Given the description of an element on the screen output the (x, y) to click on. 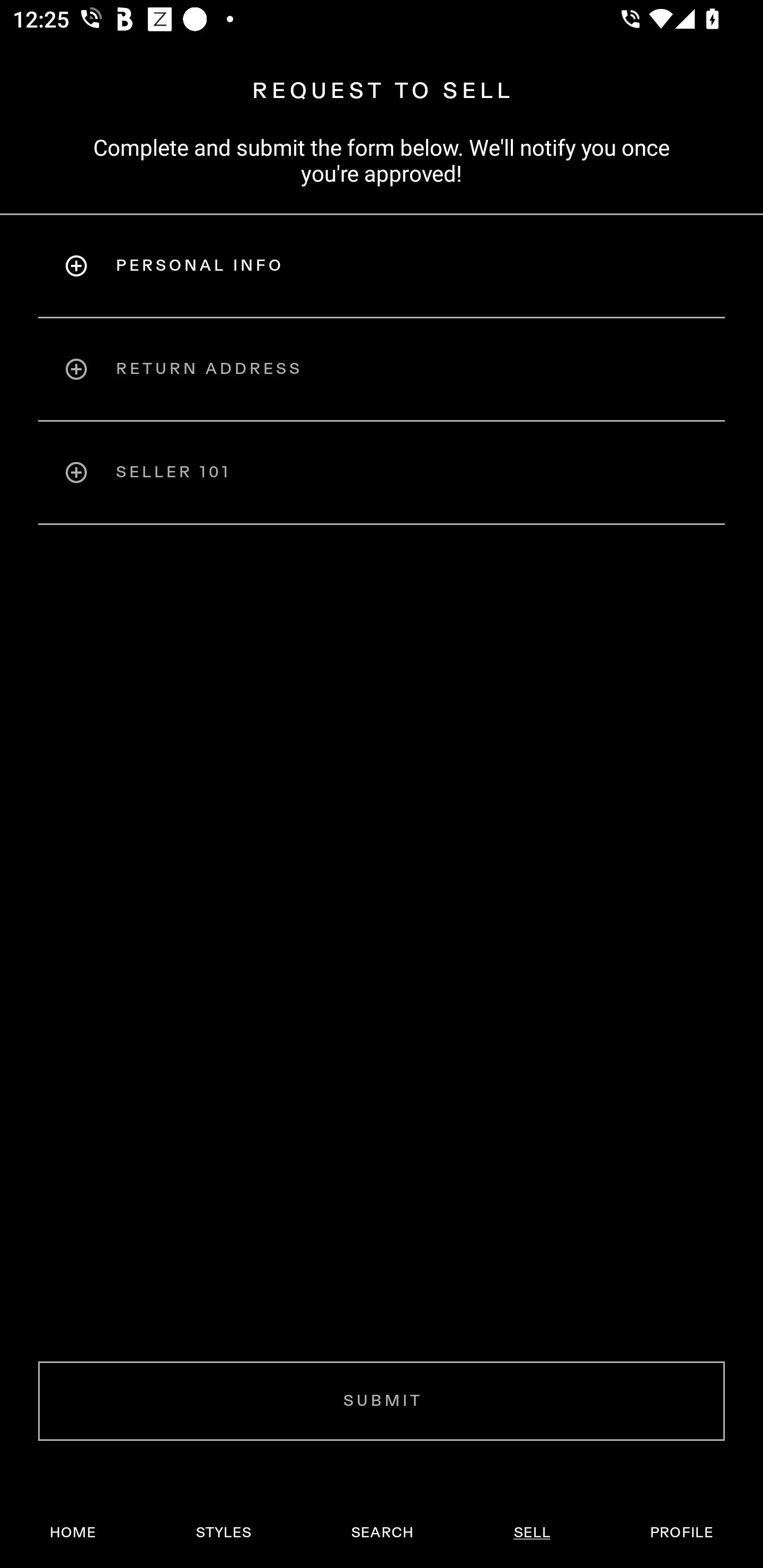
PERSONAL INFO (381, 265)
RETURN ADDRESS (381, 369)
SELLER 101 (381, 472)
SUBMIT (381, 1400)
HOME (72, 1532)
STYLES (222, 1532)
SEARCH (381, 1532)
SELL (531, 1532)
PROFILE (681, 1532)
